Given the description of an element on the screen output the (x, y) to click on. 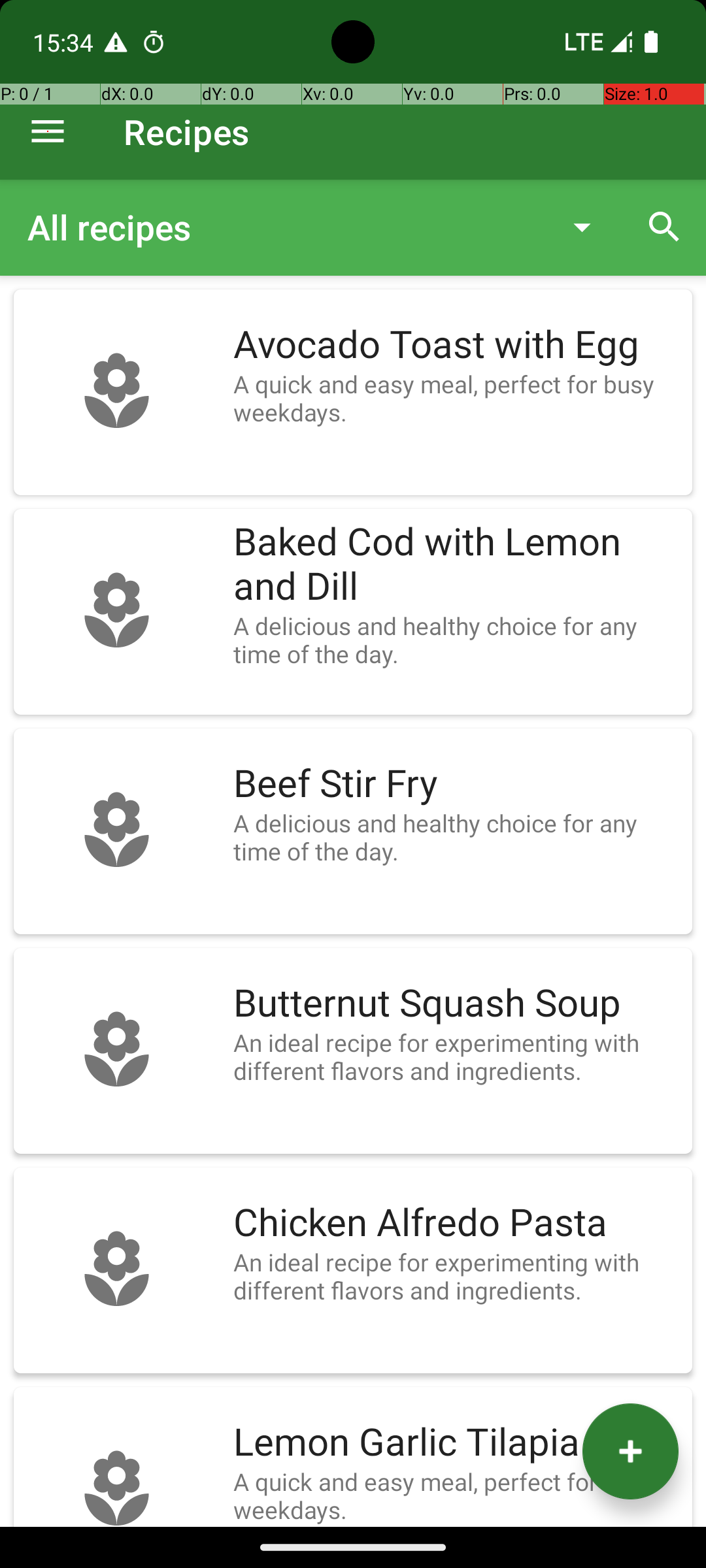
Lemon Garlic Tilapia Element type: android.widget.TextView (455, 1442)
